Given the description of an element on the screen output the (x, y) to click on. 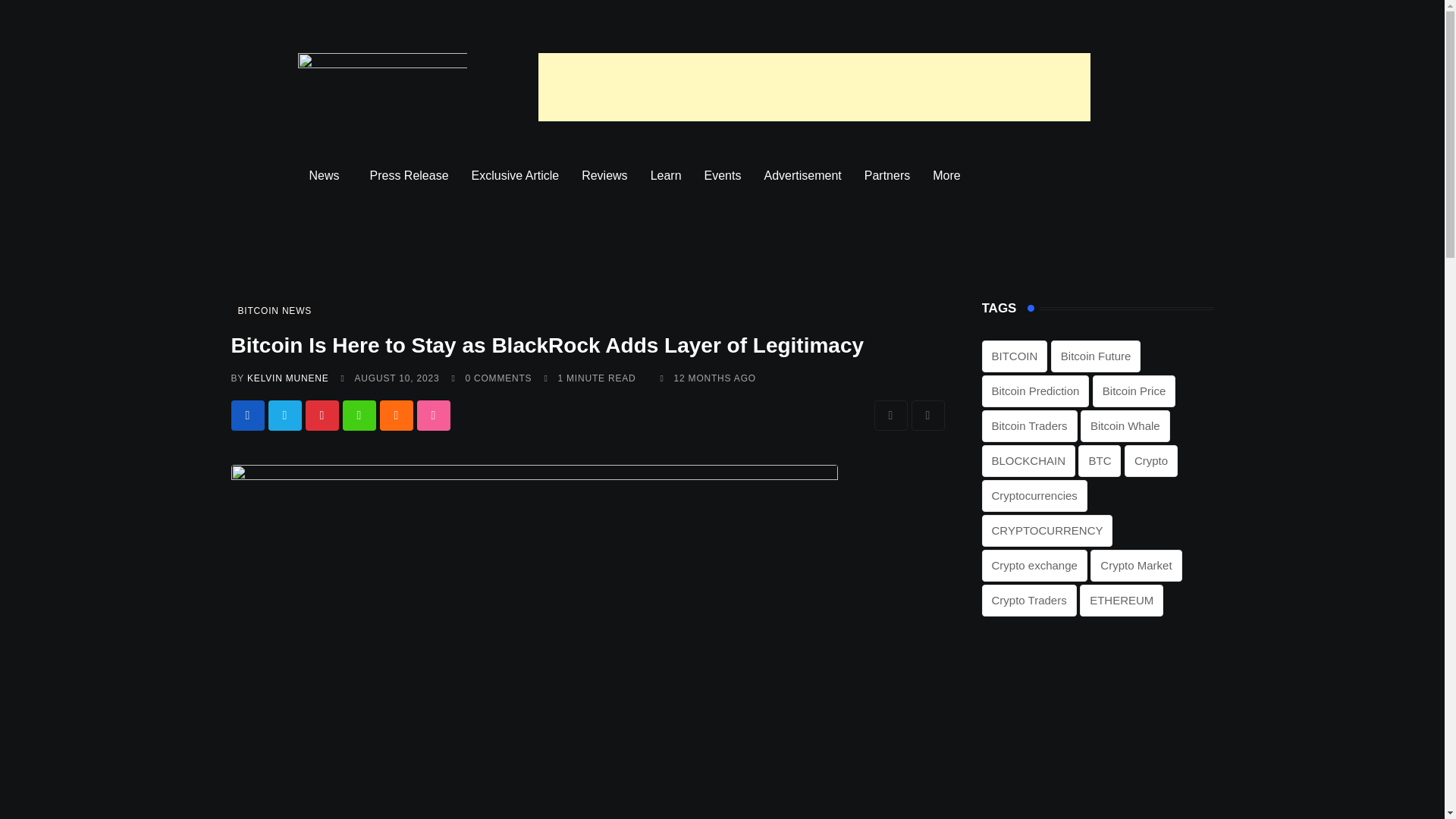
Events (722, 175)
News (327, 175)
Learn (666, 175)
BITCOIN NEWS (274, 309)
Partners (887, 175)
Press Release (409, 175)
Advertisement (801, 175)
Reviews (604, 175)
Exclusive Article (515, 175)
KELVIN MUNENE (288, 378)
